Given the description of an element on the screen output the (x, y) to click on. 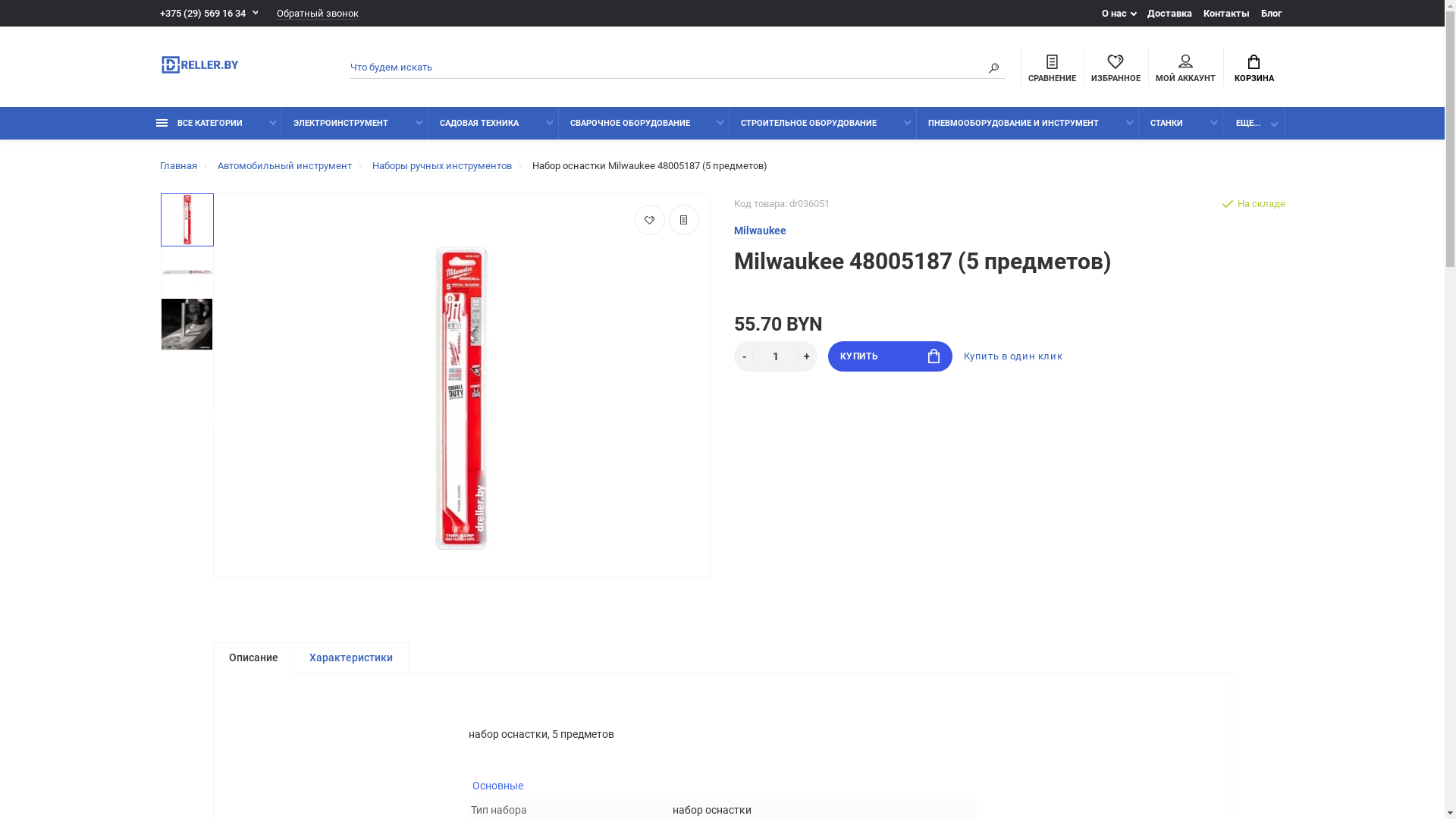
Dreller.by Element type: hover (199, 66)
+375 (29) 569 16 34 Element type: text (208, 13)
Milwaukee Element type: text (760, 230)
